Given the description of an element on the screen output the (x, y) to click on. 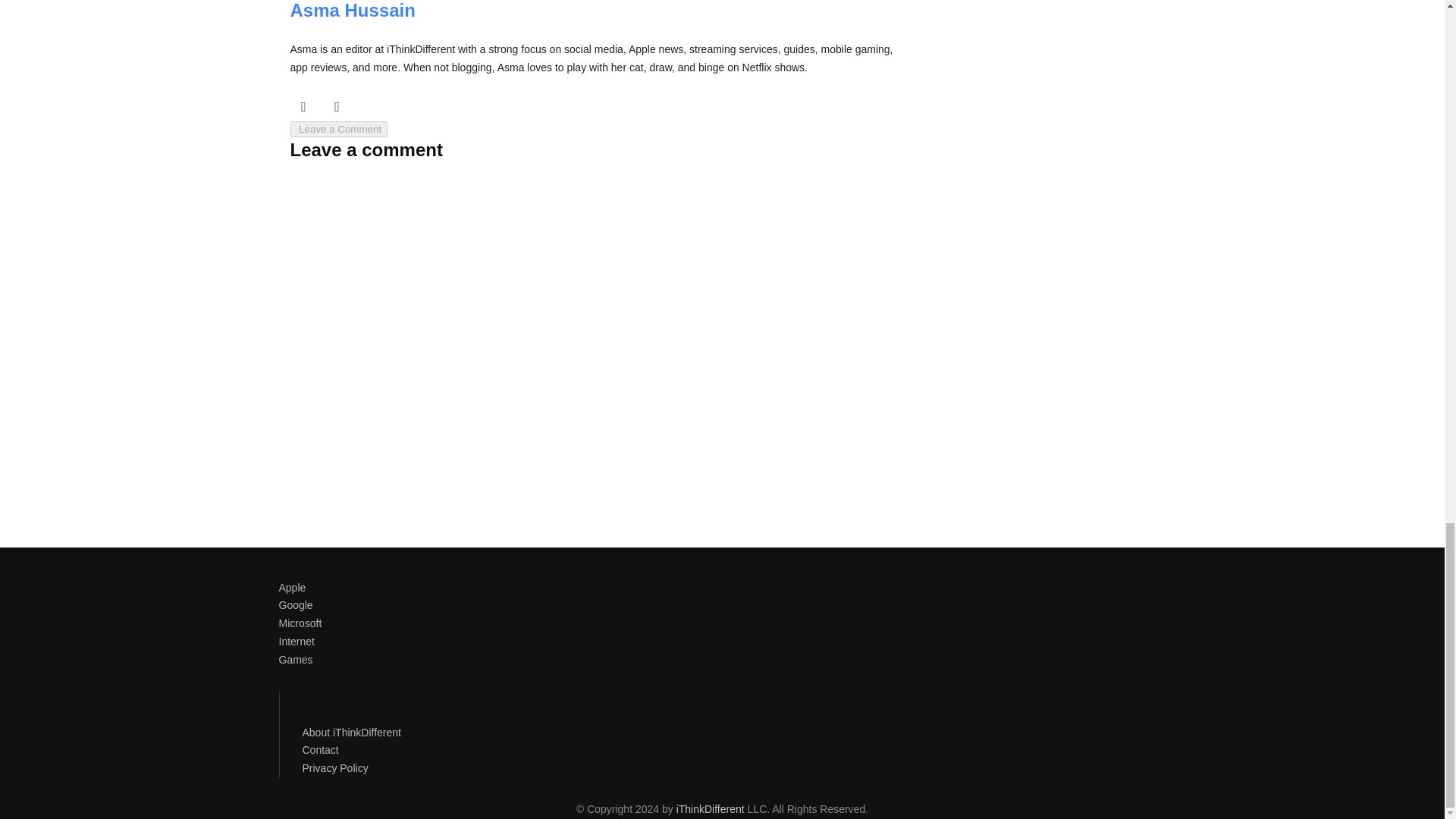
Send me an email! (336, 106)
Asma Hussain (351, 10)
Visit my site (370, 106)
Follow me on Twitter (303, 106)
